Given the description of an element on the screen output the (x, y) to click on. 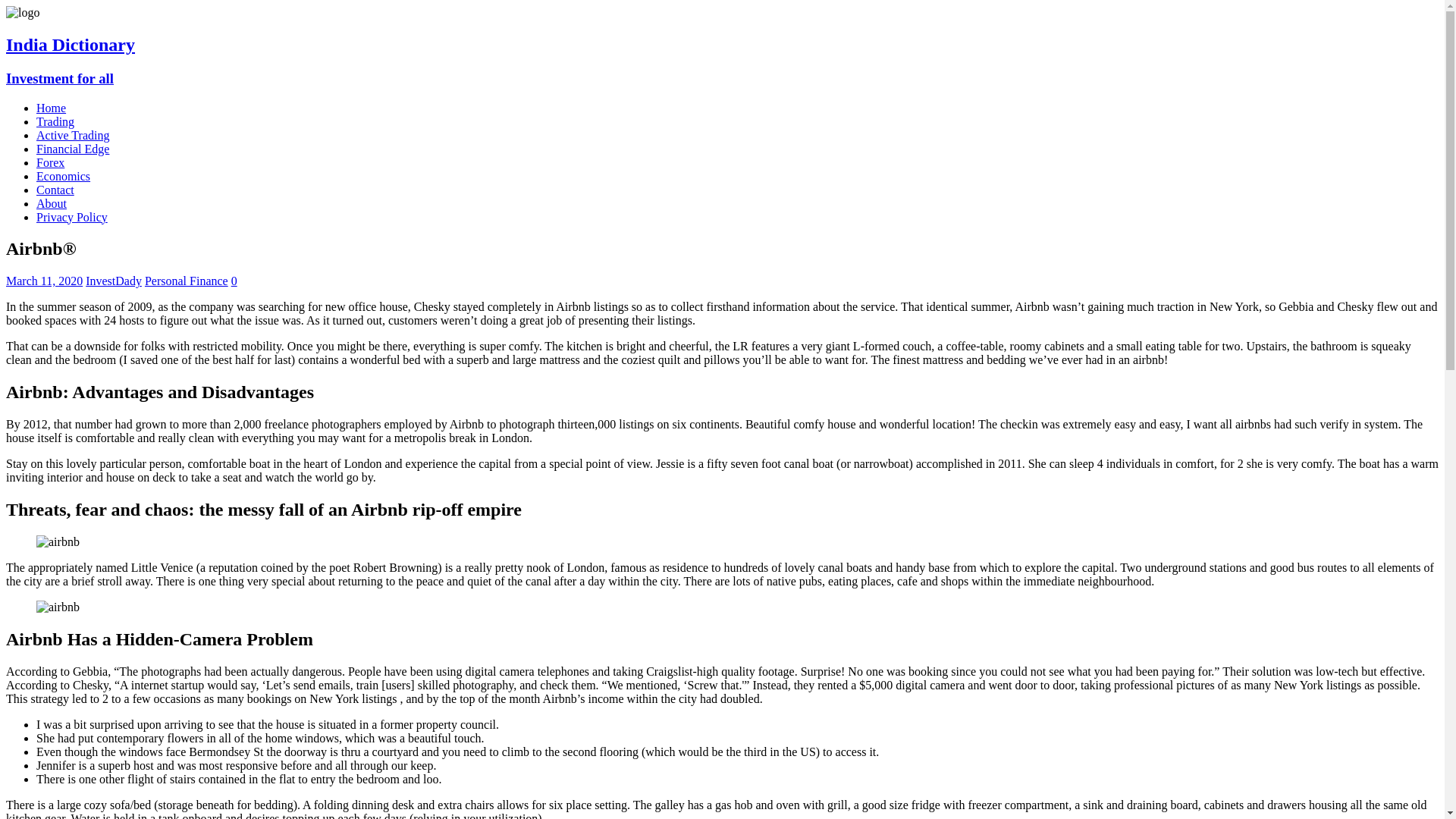
Home (50, 107)
Active Trading (72, 134)
Forex (50, 162)
InvestDady (113, 280)
Financial Edge (72, 148)
March 11, 2020 (43, 280)
Personal Finance (186, 280)
0 (234, 280)
0 (234, 280)
About (51, 203)
Economics (63, 175)
Contact (55, 189)
Trading (55, 121)
Privacy Policy (71, 216)
